Given the description of an element on the screen output the (x, y) to click on. 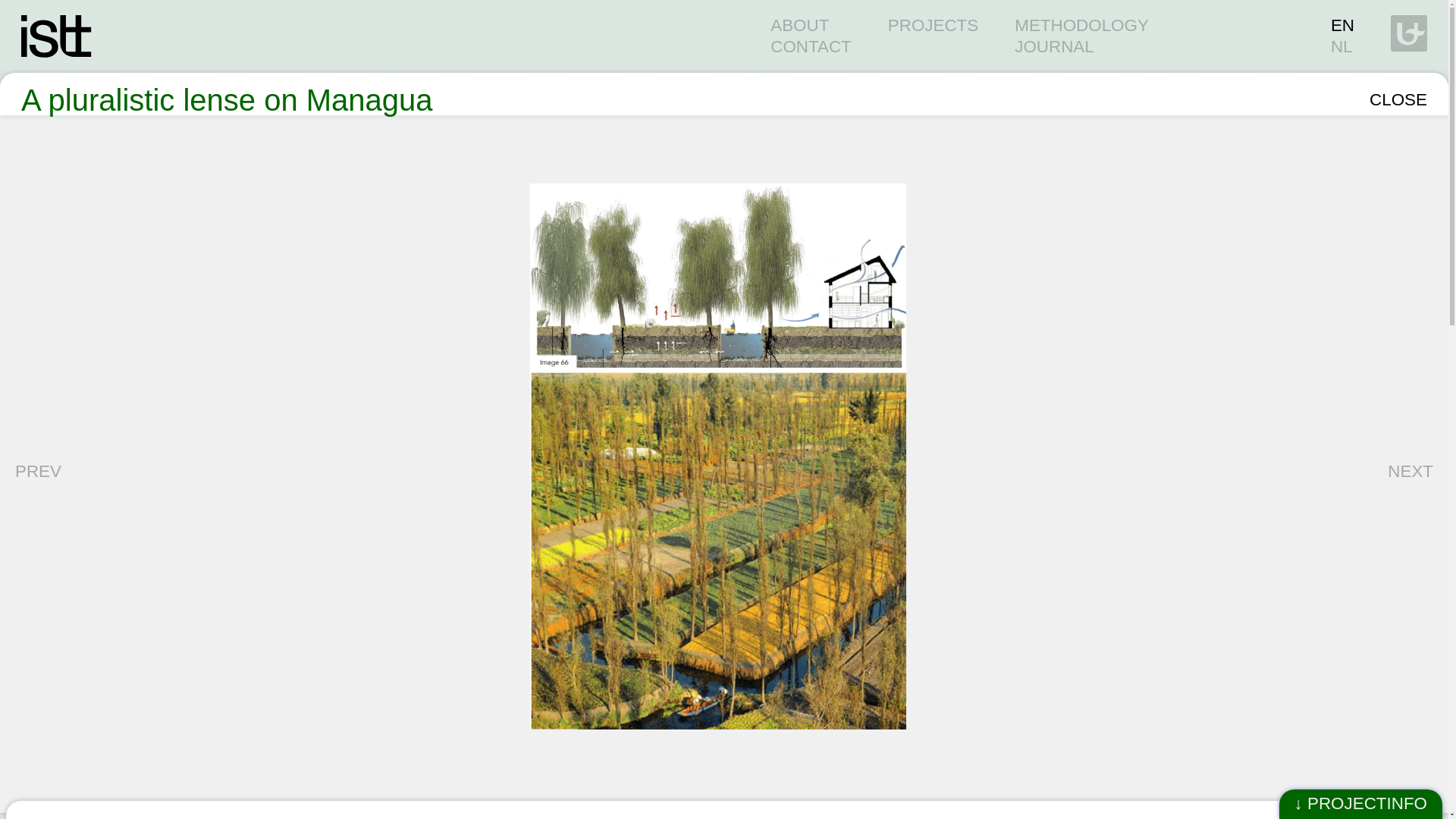
CLOSE (1398, 99)
CONTACT (810, 46)
ABOUT (799, 25)
JOURNAL (1054, 46)
EN (1342, 25)
METHODOLOGY (1081, 25)
NL (1341, 46)
PROJECTS (933, 25)
